Given the description of an element on the screen output the (x, y) to click on. 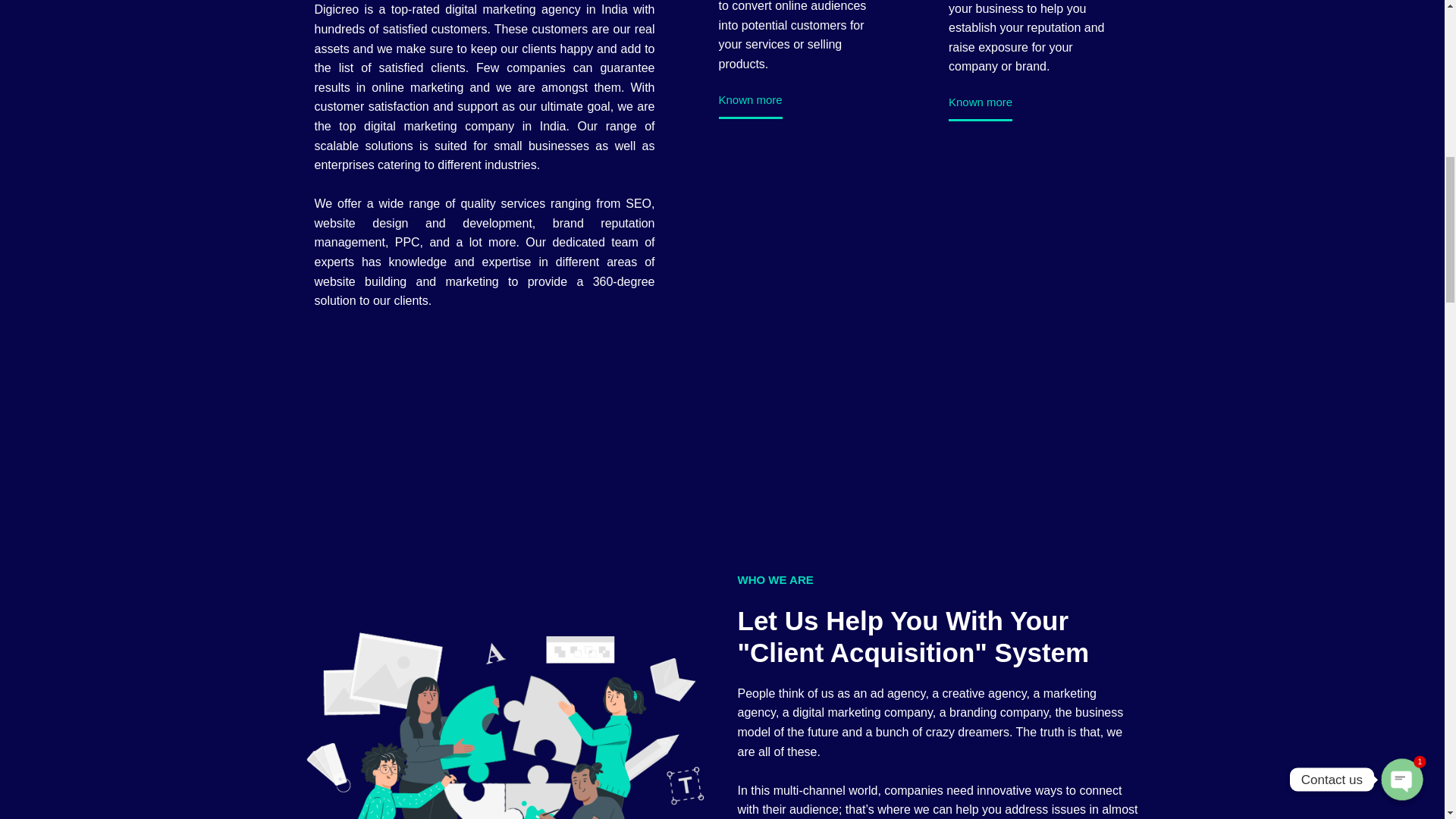
Known more (980, 108)
Known more (751, 106)
